Given the description of an element on the screen output the (x, y) to click on. 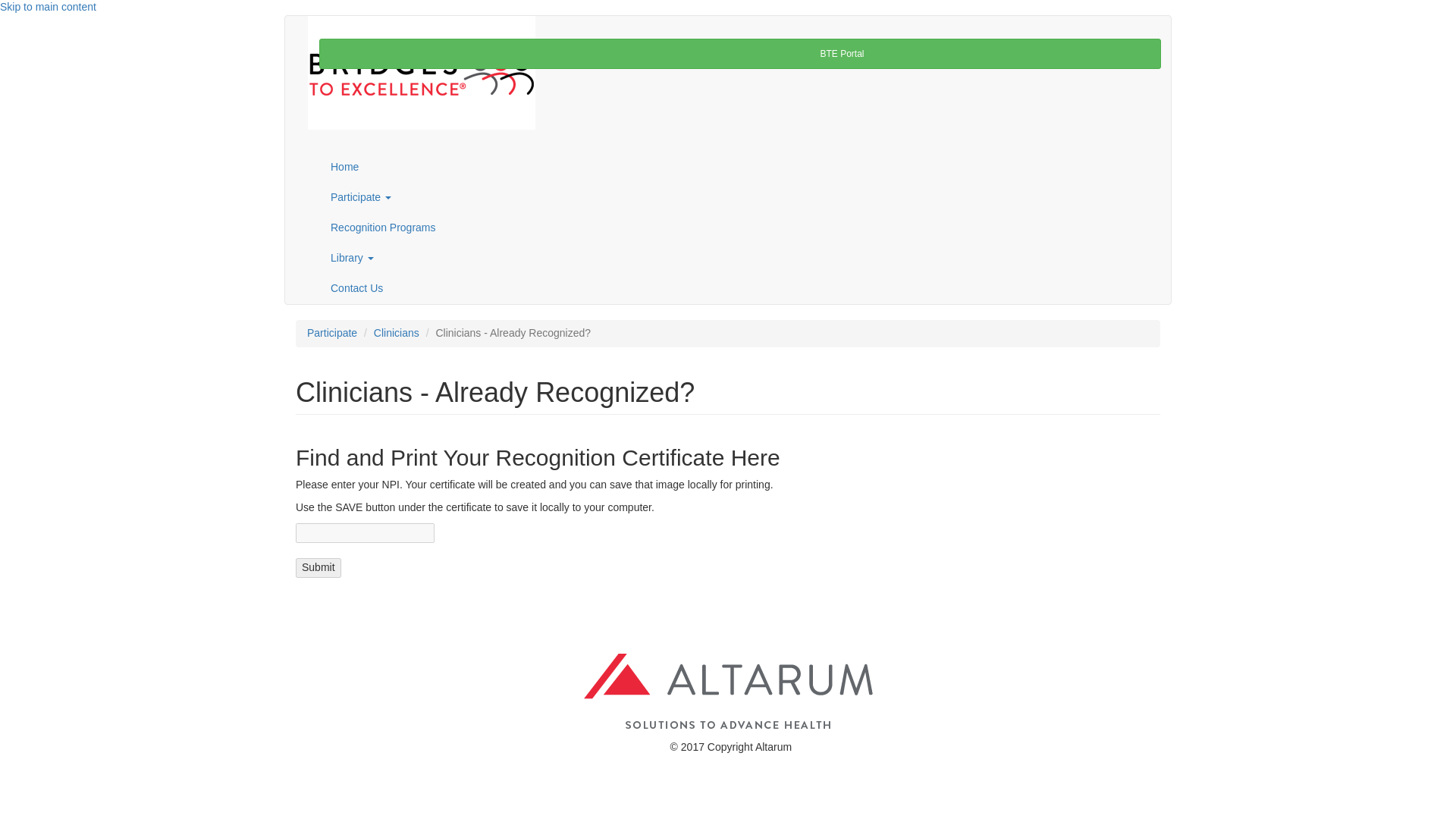
Library (739, 258)
Home (739, 167)
Contact Us (739, 288)
Home (421, 72)
Clinicians (396, 332)
Skip to main content (48, 6)
Participate (331, 332)
BTE Portal (739, 53)
Participate (739, 197)
Submit (317, 567)
Submit (317, 567)
Recognition Programs (739, 227)
